Given the description of an element on the screen output the (x, y) to click on. 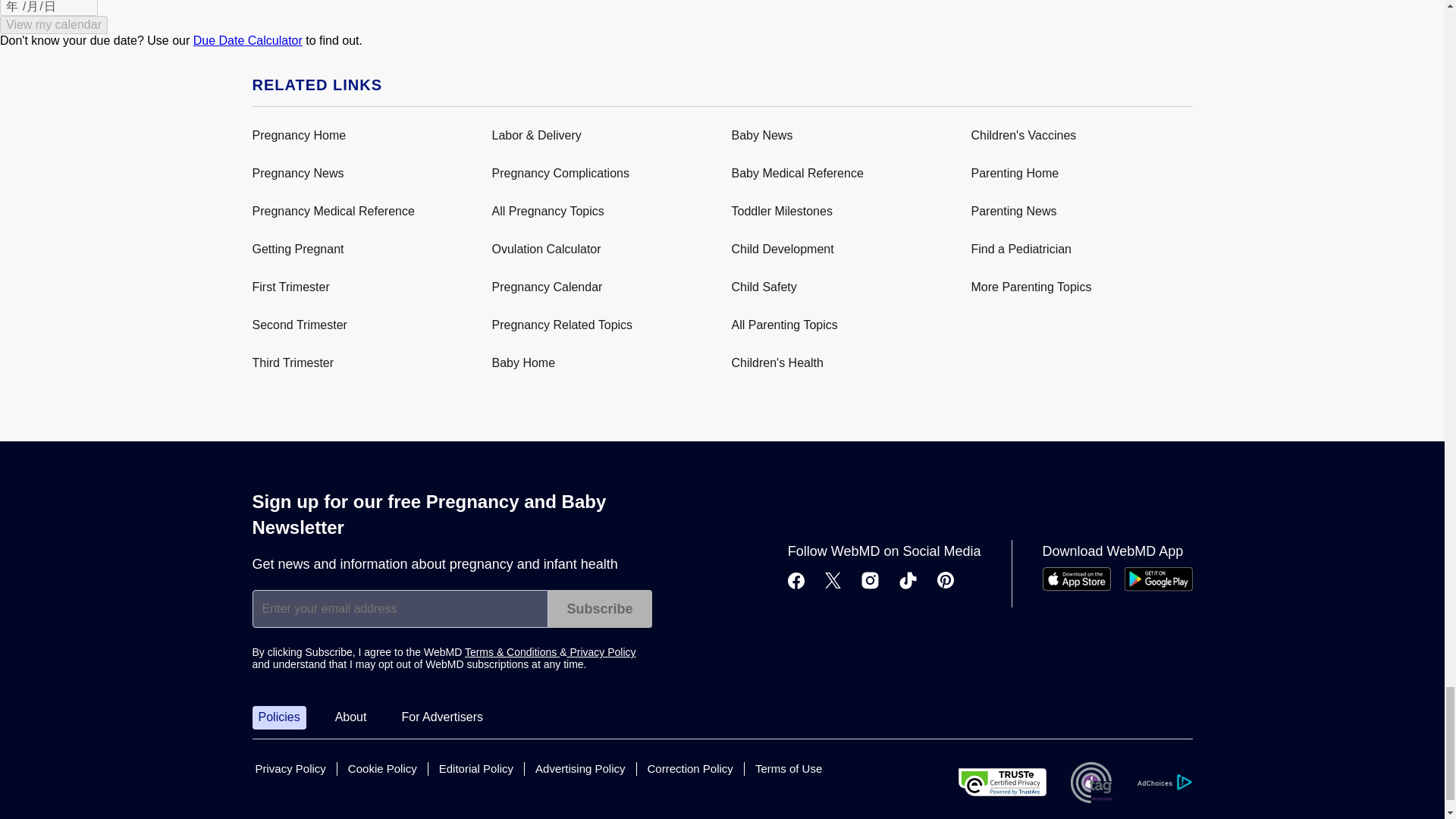
TAG Registered Seal (1091, 782)
TRUSTe Privacy Certification (1002, 782)
Adchoices (1163, 781)
